Given the description of an element on the screen output the (x, y) to click on. 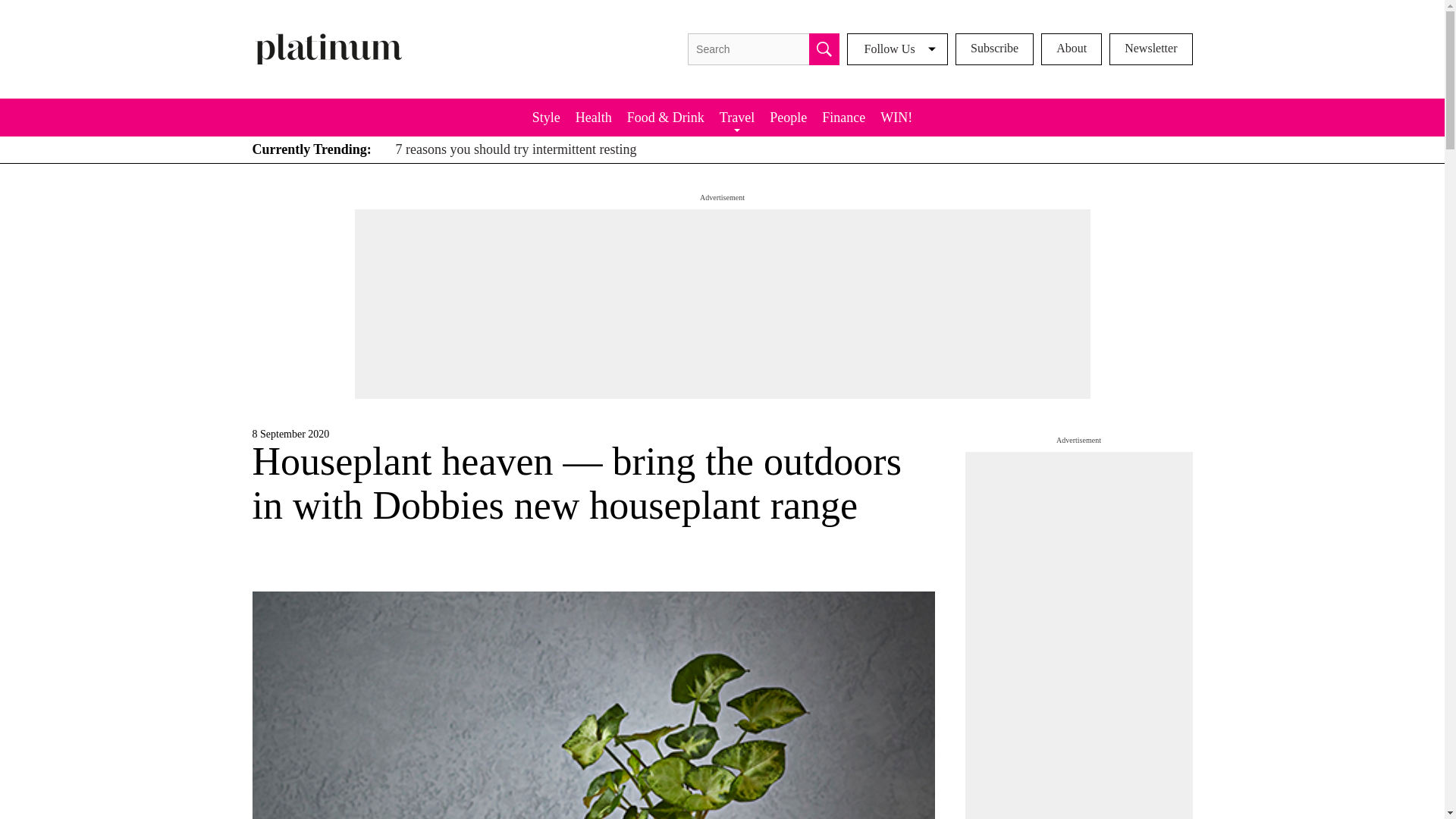
Newsletter (1150, 49)
WIN! (896, 117)
Subscribe (994, 49)
  7 reasons you should try intermittent resting  (513, 149)
Finance (842, 117)
About (1071, 49)
Health (593, 117)
Travel (736, 117)
People (787, 117)
Follow Us (897, 49)
